Given the description of an element on the screen output the (x, y) to click on. 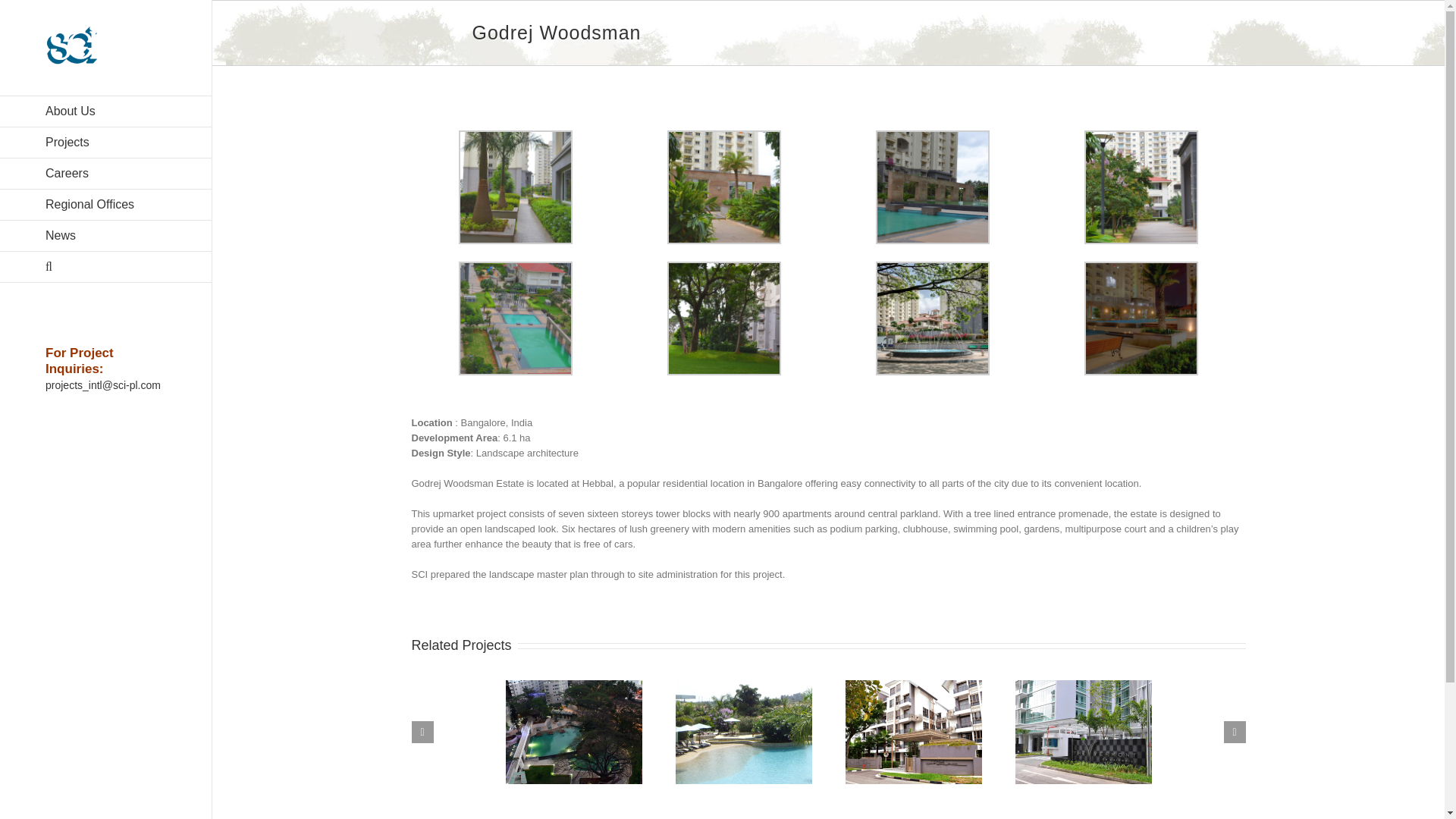
About Us (105, 111)
Regional Offices (105, 204)
Careers (105, 173)
Projects (105, 142)
News (105, 235)
